Given the description of an element on the screen output the (x, y) to click on. 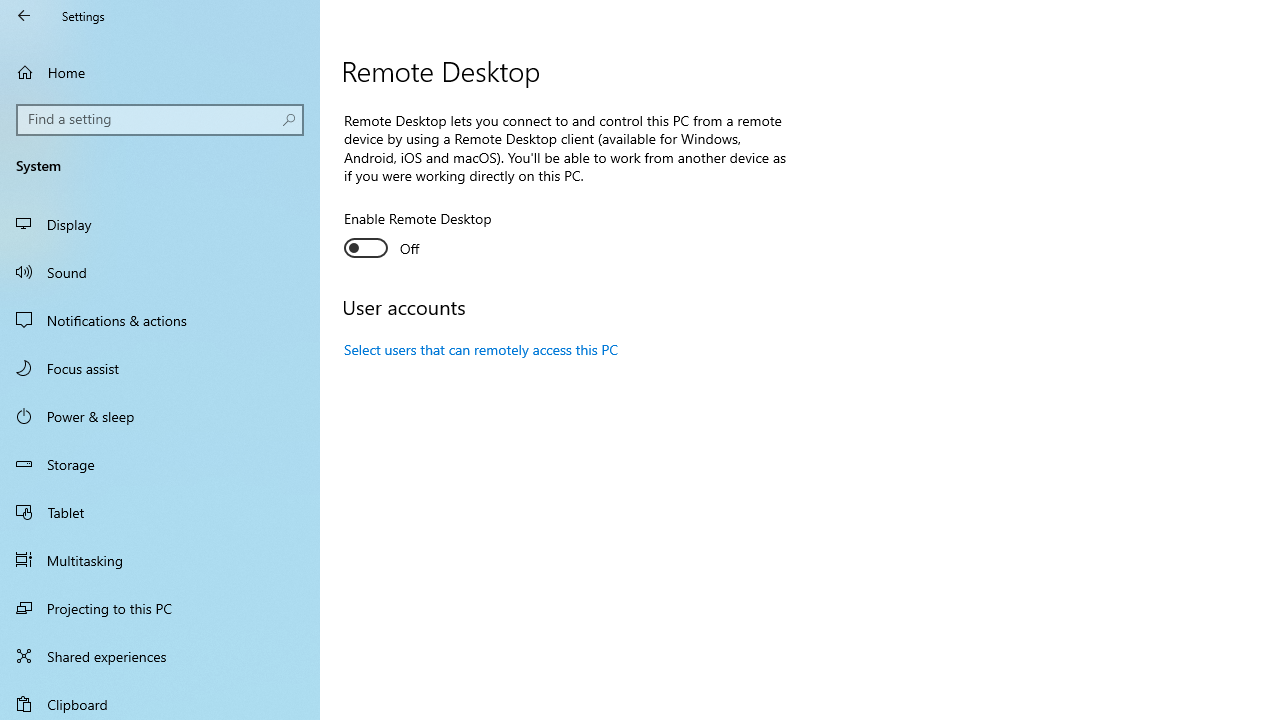
Home (160, 71)
Storage (160, 463)
Search box, Find a setting (160, 119)
Display (160, 223)
Shared experiences (160, 655)
Projecting to this PC (160, 607)
Back (24, 15)
Enable Remote Desktop (417, 236)
Multitasking (160, 559)
Notifications & actions (160, 319)
Tablet (160, 511)
Power & sleep (160, 415)
Select users that can remotely access this PC (481, 349)
Focus assist (160, 367)
Sound (160, 271)
